Given the description of an element on the screen output the (x, y) to click on. 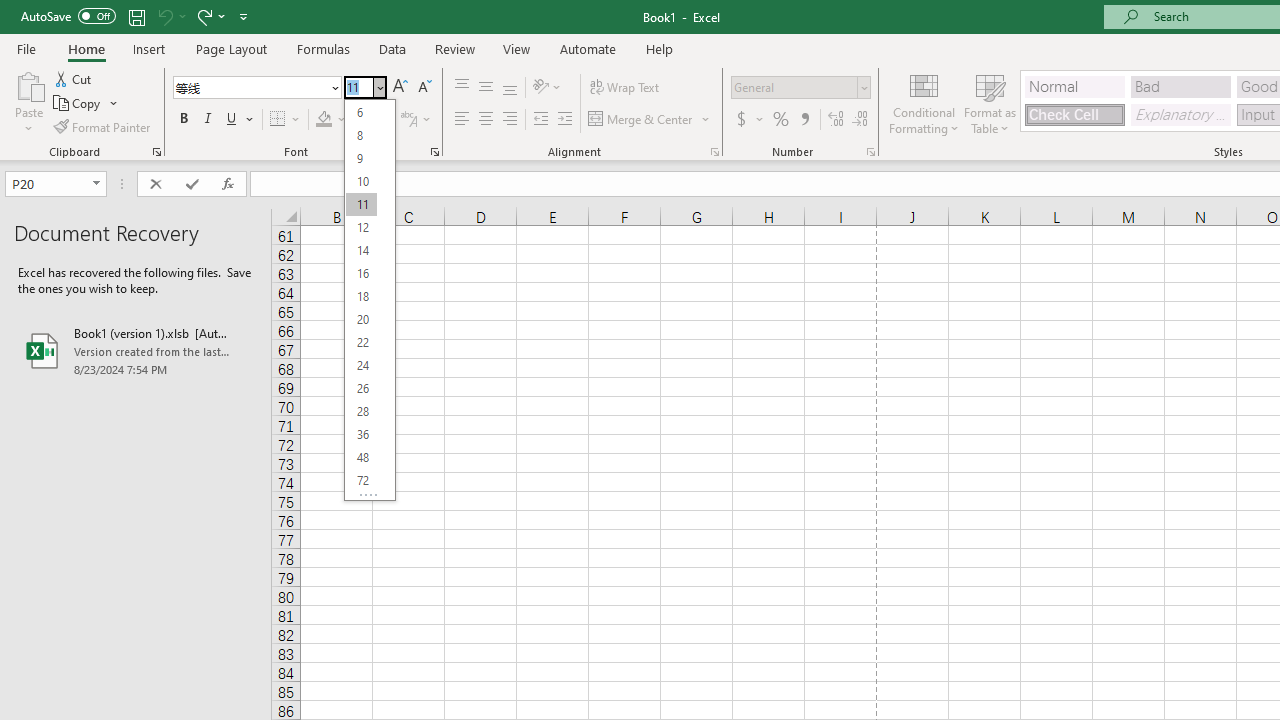
AutoSave (68, 16)
Decrease Indent (540, 119)
Merge & Center (641, 119)
Orientation (547, 87)
Font (250, 87)
Font Size (365, 87)
Bottom Align (509, 87)
Automate (588, 48)
Redo (203, 15)
16 (361, 273)
24 (361, 365)
Increase Font Size (399, 87)
26 (361, 388)
Align Left (461, 119)
Quick Access Toolbar (136, 16)
